Given the description of an element on the screen output the (x, y) to click on. 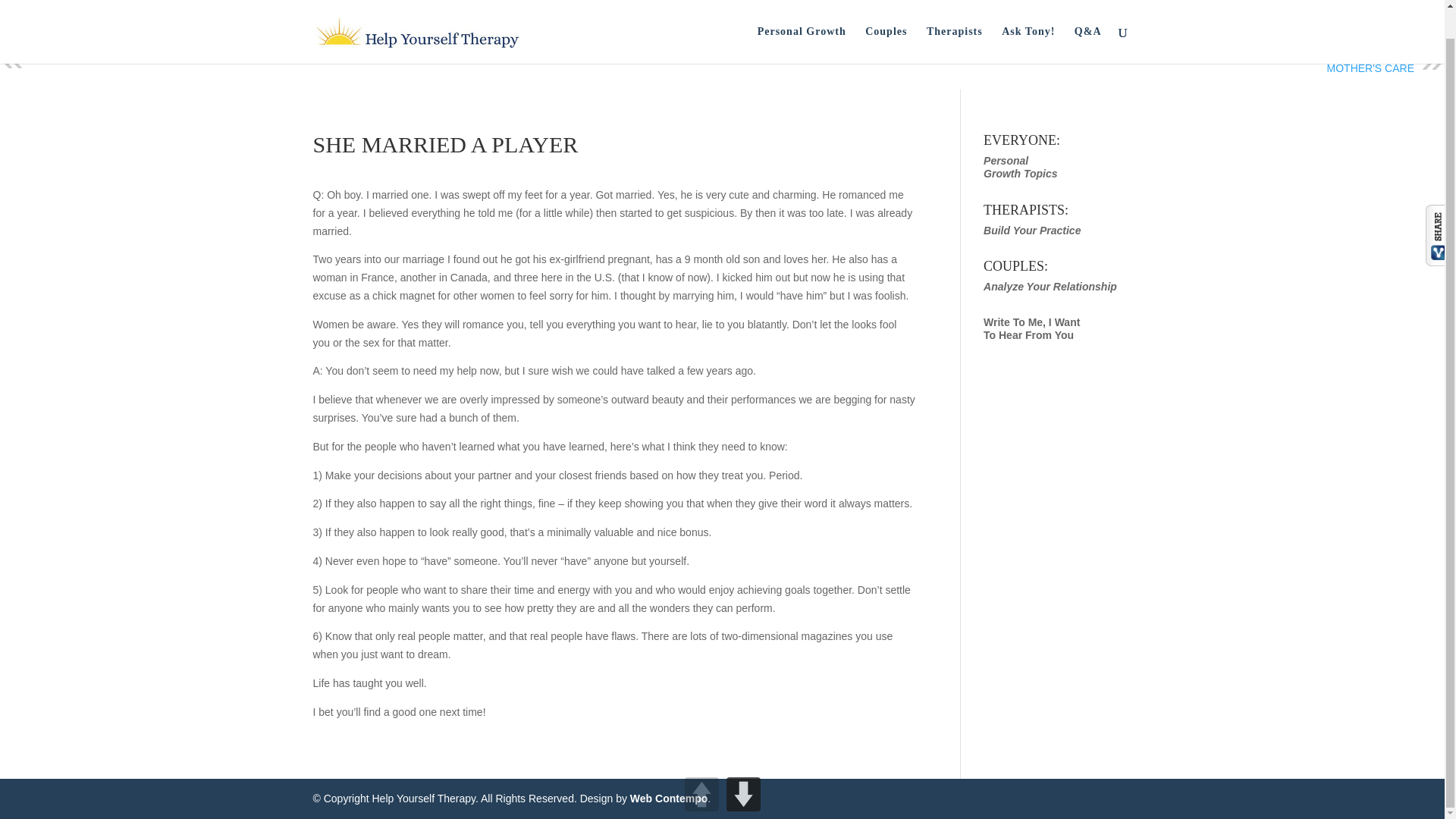
Web Contempo (668, 798)
Therapists (954, 17)
Couples (1032, 328)
DOWN (885, 17)
PERFECTIONISM AND RELIEF (743, 765)
Ask Tony! (1020, 166)
Personal Growth (106, 55)
Build Your Practice (1027, 17)
SISTER WON'T PAY FOR MOTHER'S CARE (801, 17)
UP (1032, 230)
Analyze Your Relationship (1351, 61)
